Given the description of an element on the screen output the (x, y) to click on. 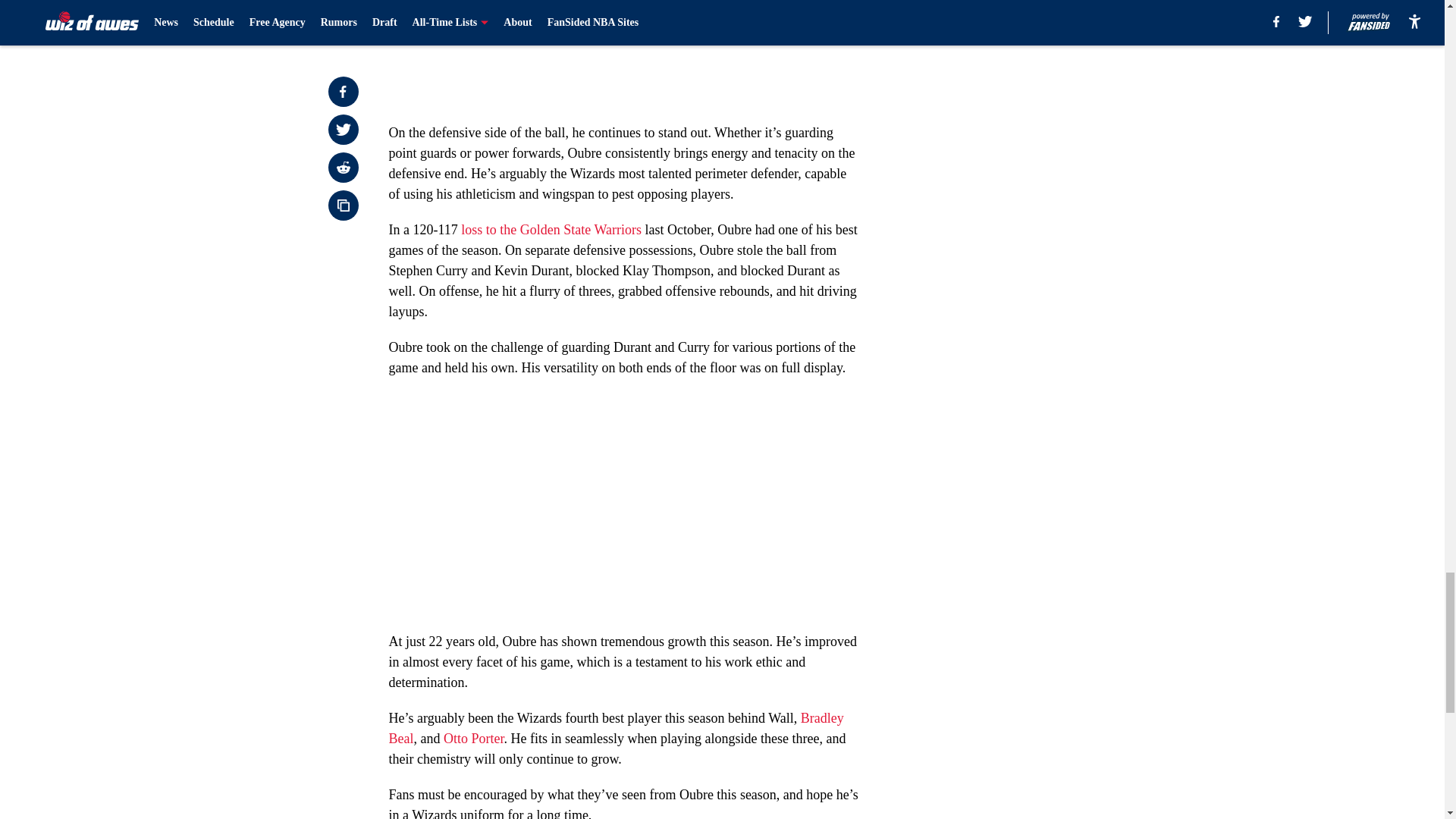
Otto Porter (473, 738)
Bradley Beal (615, 728)
loss to the Golden State Warriors  (553, 229)
